Given the description of an element on the screen output the (x, y) to click on. 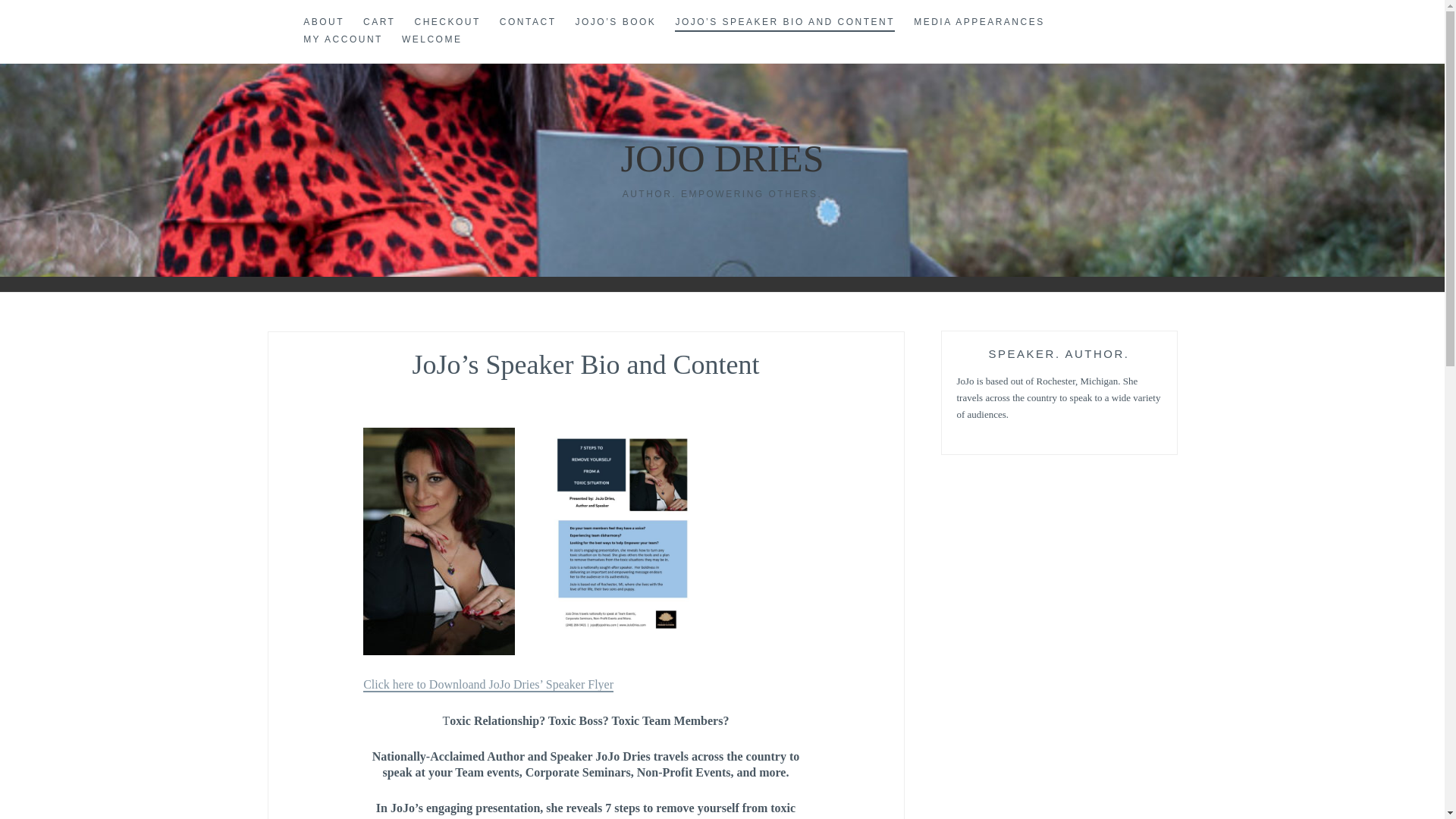
JOJO DRIES (722, 158)
WELCOME (432, 39)
ABOUT (322, 22)
CONTACT (527, 22)
CHECKOUT (446, 22)
MY ACCOUNT (342, 39)
CART (378, 22)
MEDIA APPEARANCES (979, 22)
